Given the description of an element on the screen output the (x, y) to click on. 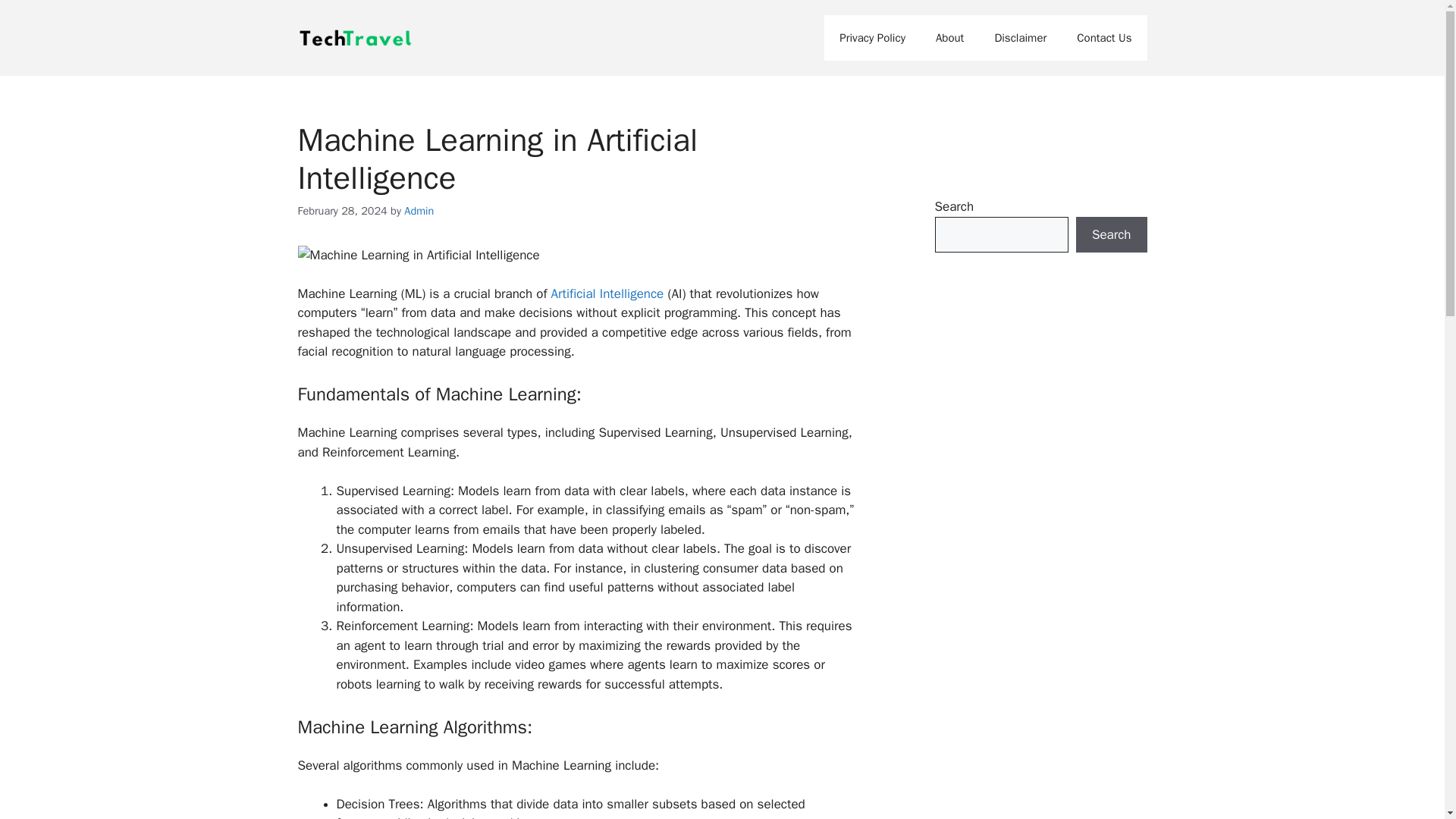
Admin (418, 210)
Privacy Policy (872, 37)
About (949, 37)
Artificial Intelligence (607, 293)
View all posts by Admin (418, 210)
Disclaimer (1019, 37)
Search (1111, 235)
Contact Us (1104, 37)
